Given the description of an element on the screen output the (x, y) to click on. 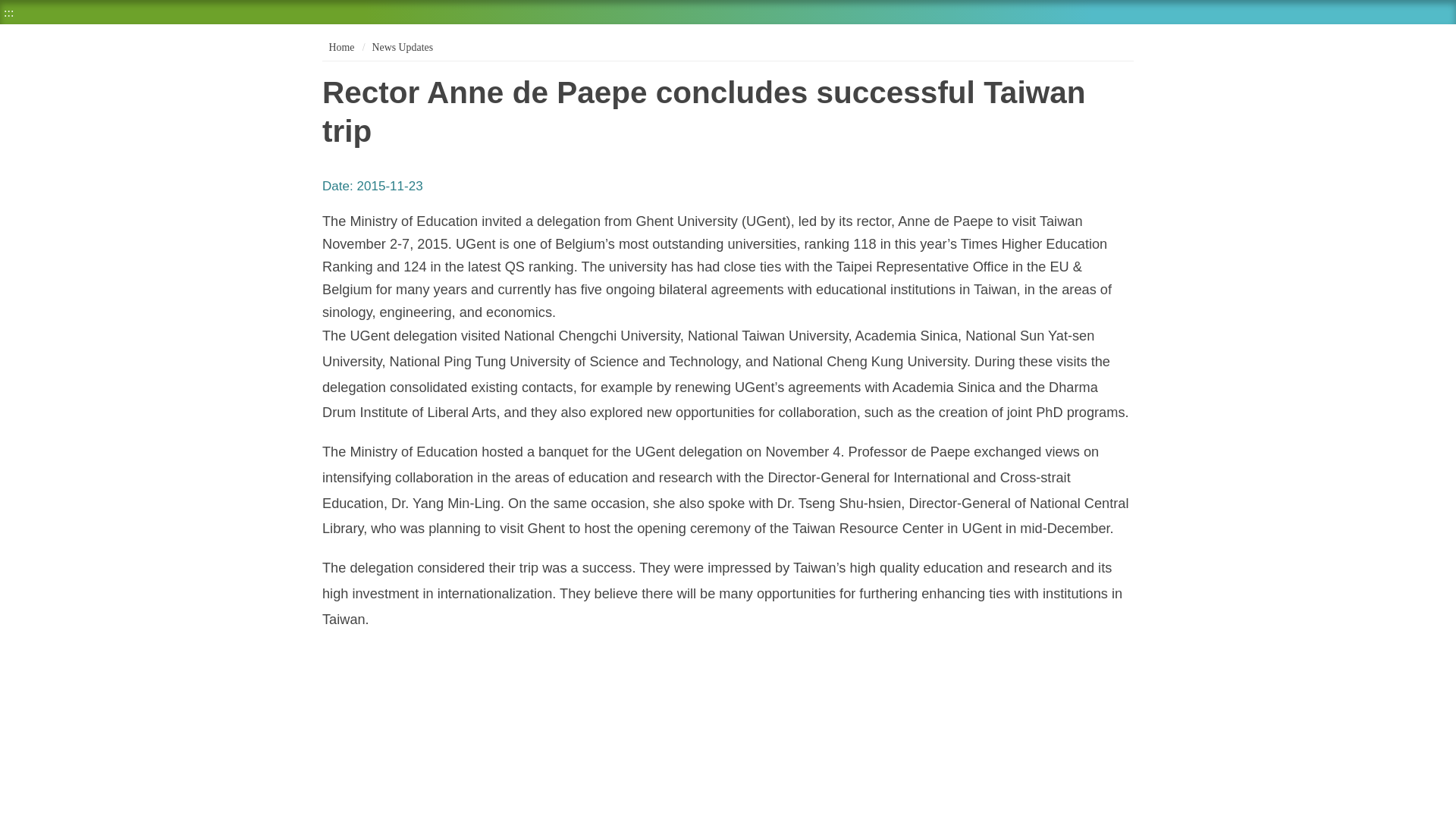
News Updates (402, 47)
Home (339, 47)
Home (339, 47)
News Updates (402, 47)
